Given the description of an element on the screen output the (x, y) to click on. 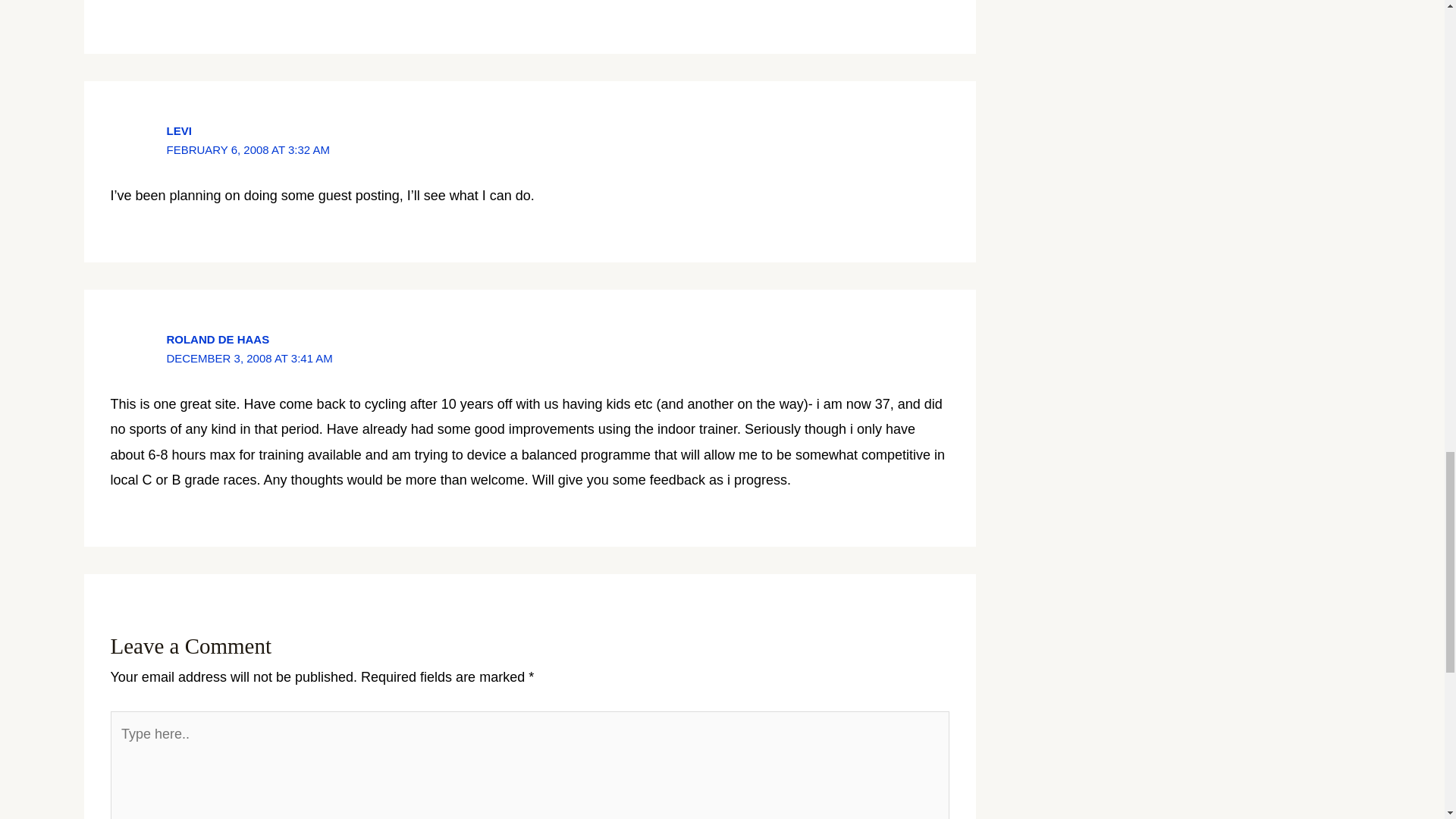
FEBRUARY 6, 2008 AT 3:32 AM (247, 149)
DECEMBER 3, 2008 AT 3:41 AM (248, 358)
LEVI (177, 130)
